Given the description of an element on the screen output the (x, y) to click on. 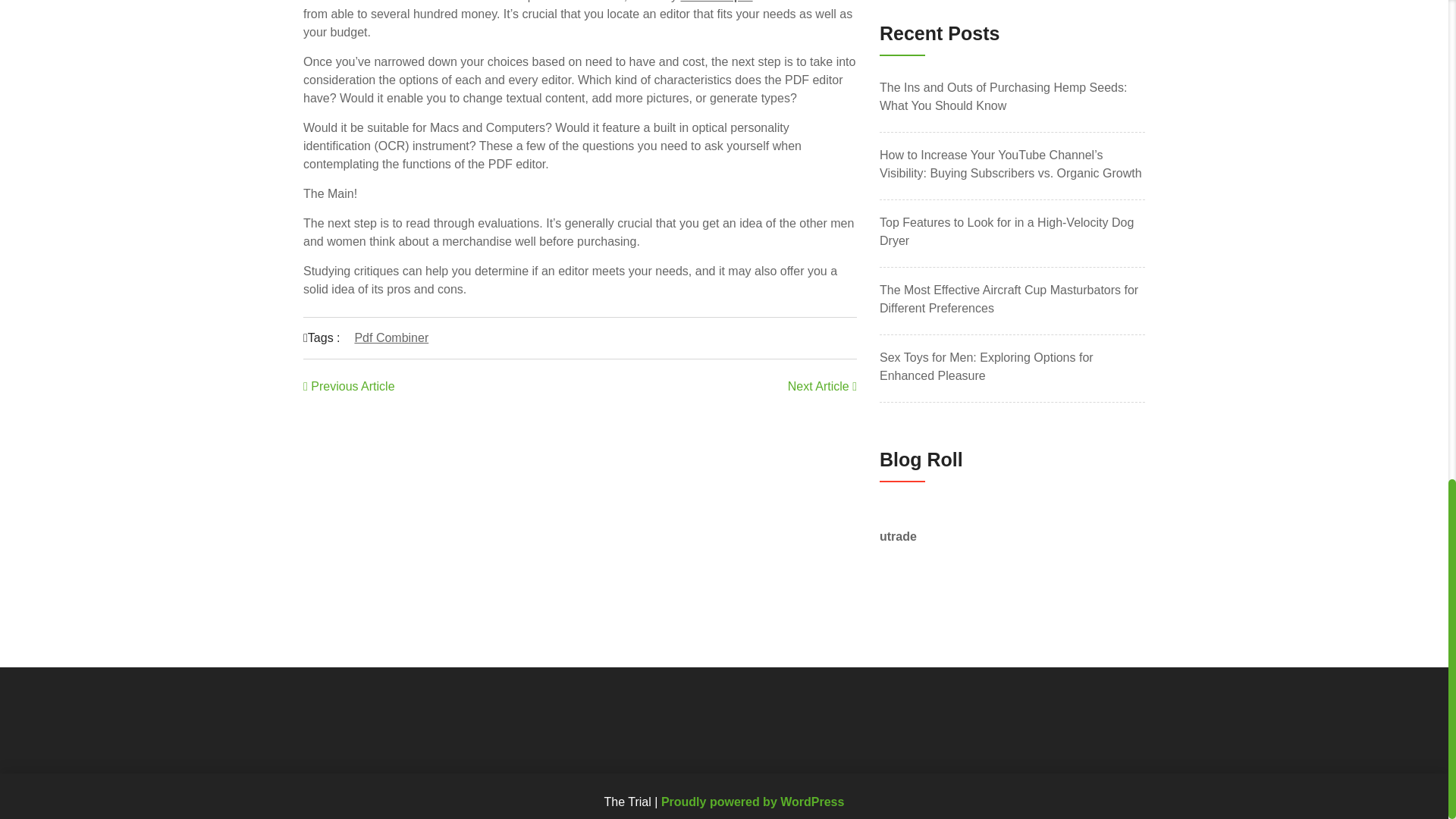
Sex Toys for Men: Exploring Options for Enhanced Pleasure (1011, 366)
Previous Article (348, 386)
combine pdf (715, 1)
utrade (898, 535)
Next Article (822, 386)
Top Features to Look for in a High-Velocity Dog Dryer (1011, 231)
Proudly powered by WordPress (752, 801)
Pdf Combiner (390, 337)
